Given the description of an element on the screen output the (x, y) to click on. 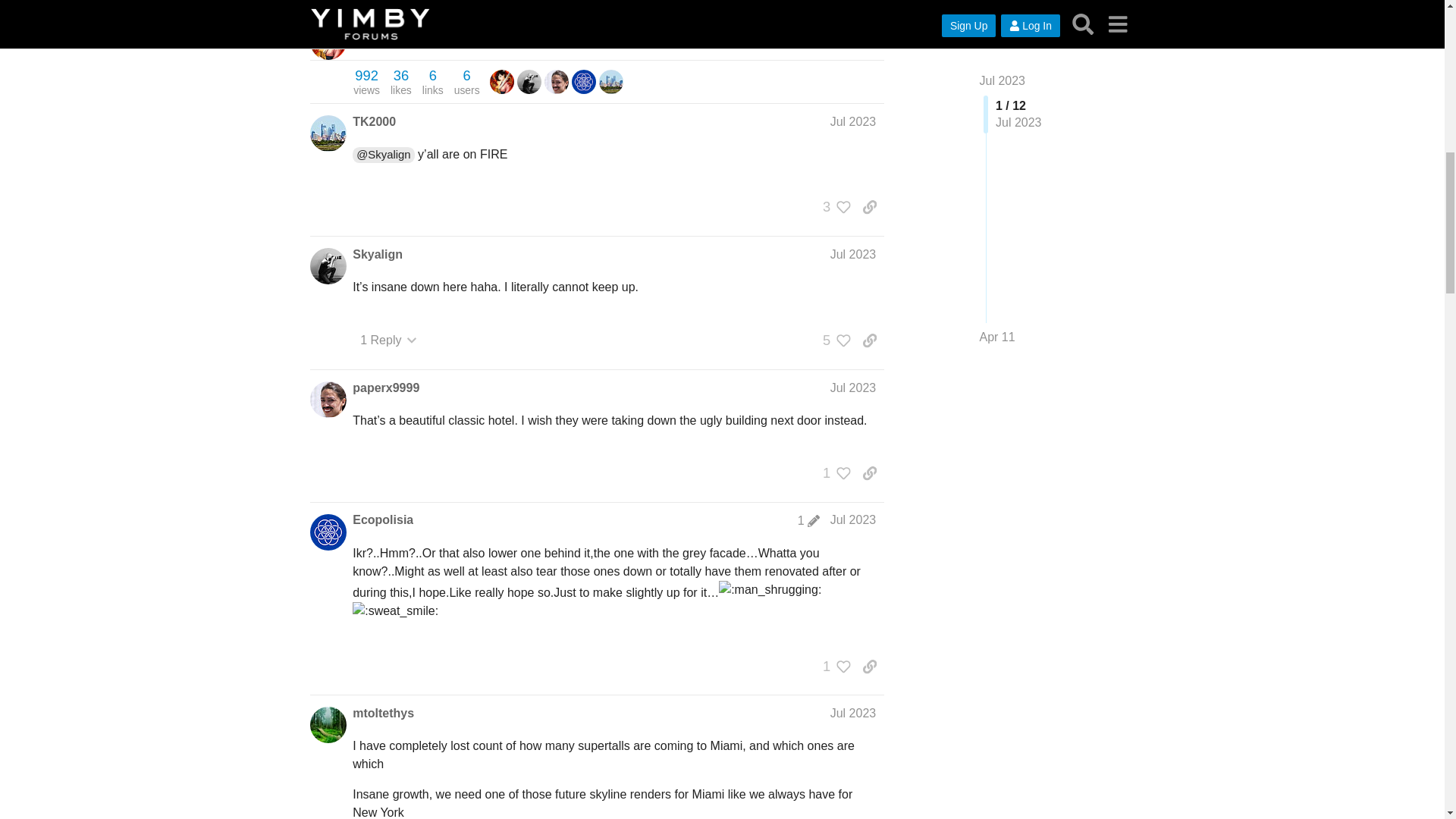
5 (466, 81)
